Given the description of an element on the screen output the (x, y) to click on. 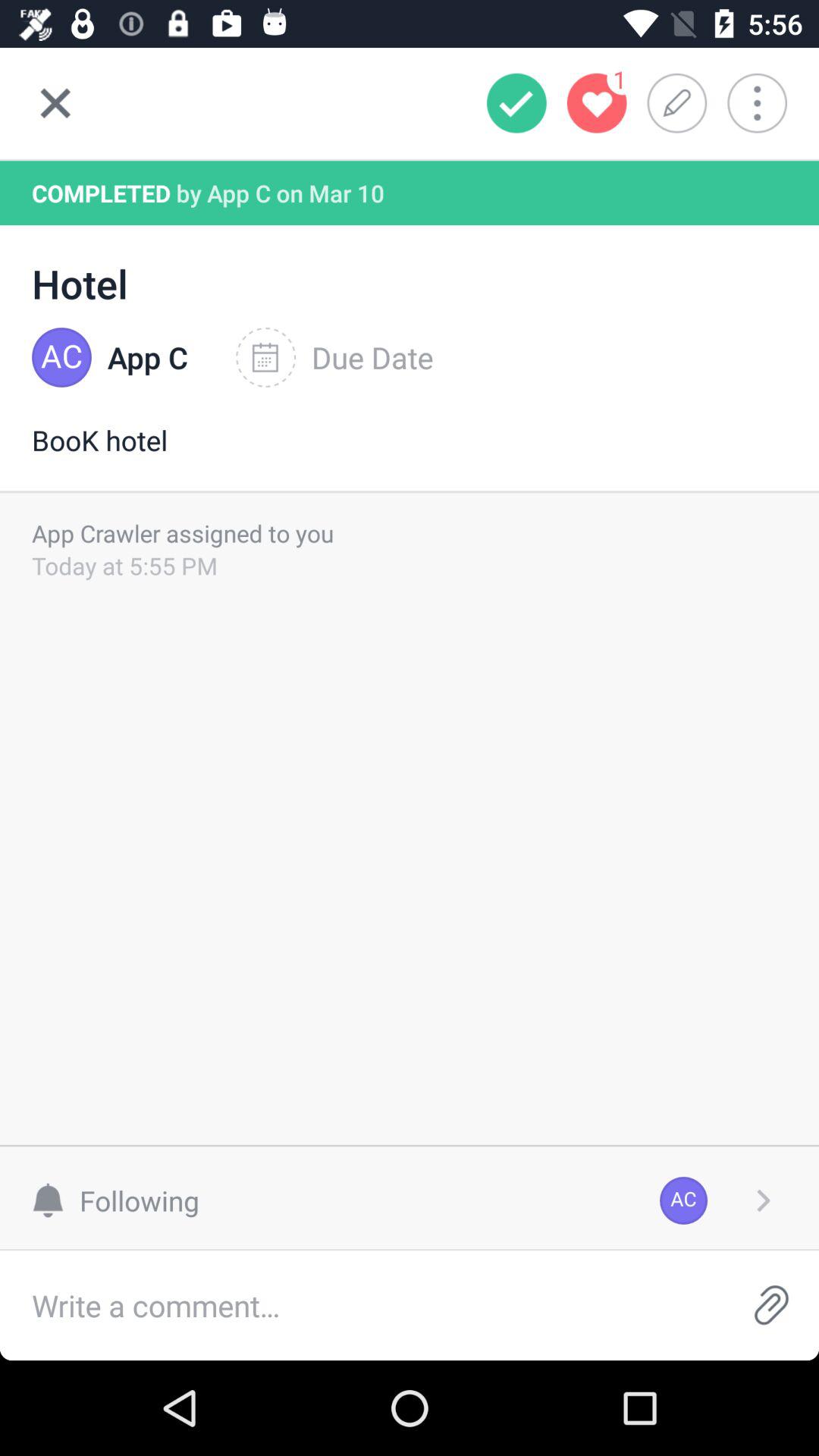
view details (763, 1200)
